Given the description of an element on the screen output the (x, y) to click on. 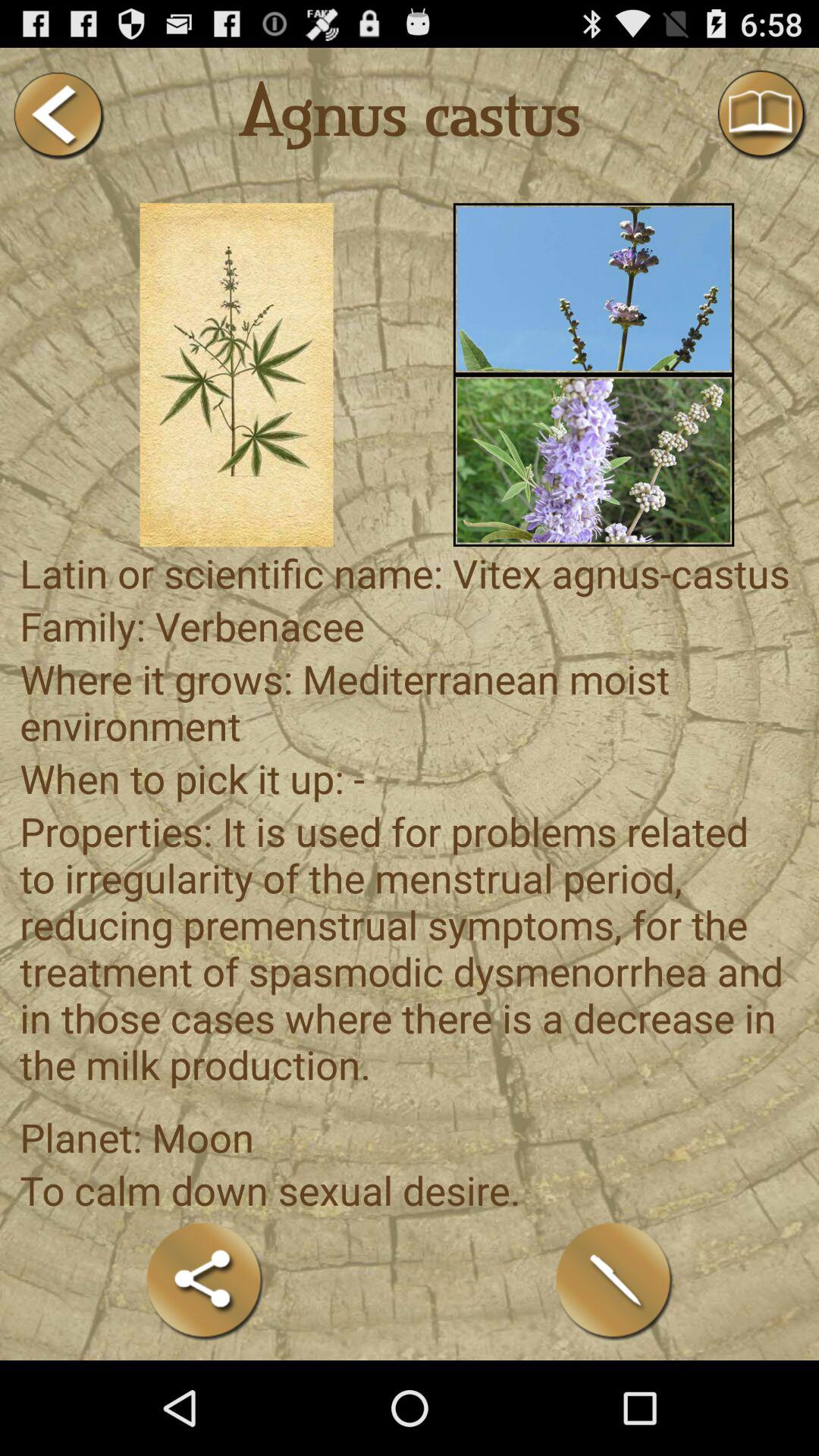
share the article (204, 1280)
